Given the description of an element on the screen output the (x, y) to click on. 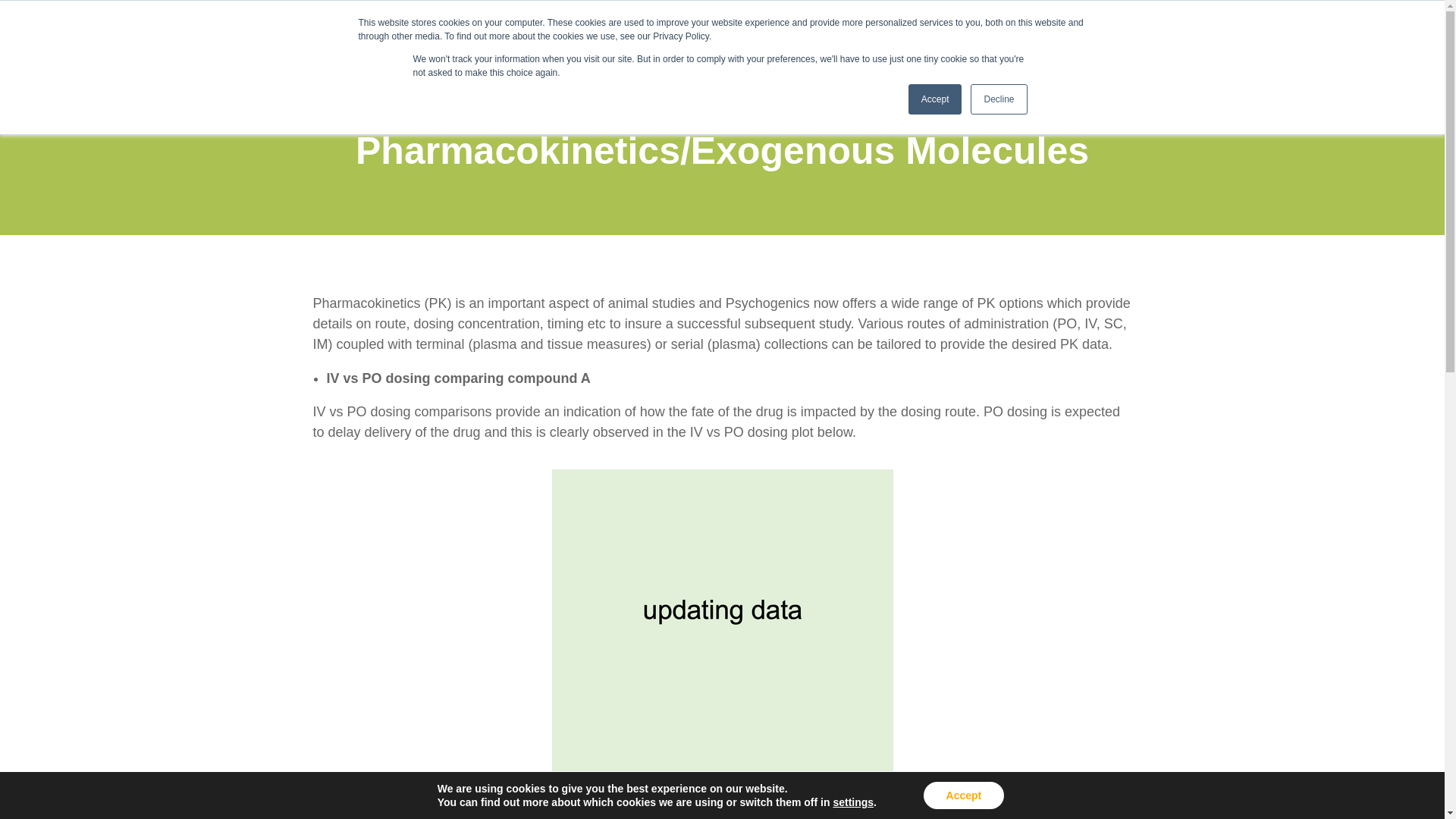
Home (828, 40)
Services (959, 40)
Accept (935, 99)
About (886, 40)
Decline (998, 99)
